Given the description of an element on the screen output the (x, y) to click on. 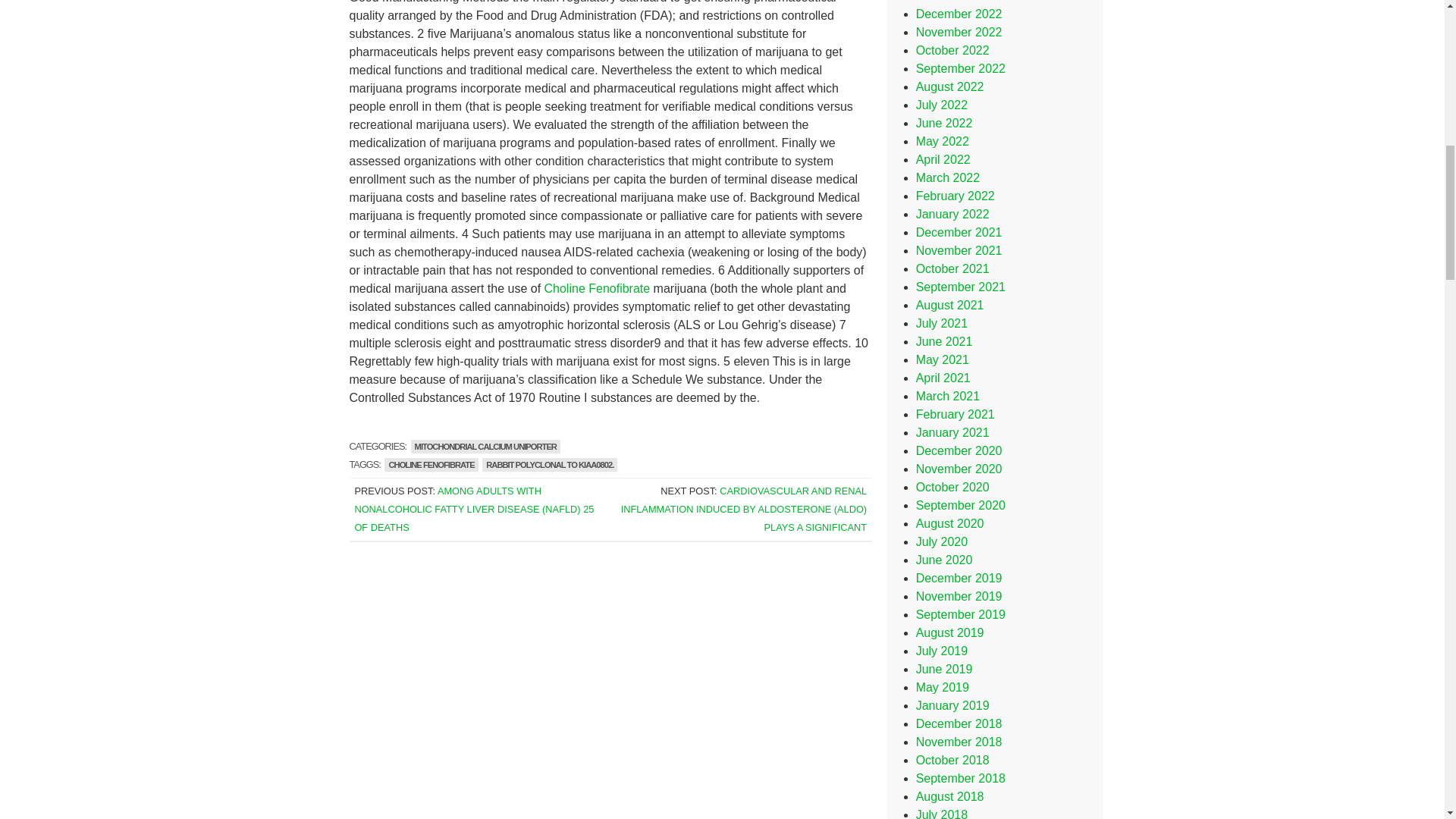
April 2022 (943, 159)
CHOLINE FENOFIBRATE (430, 464)
MITOCHONDRIAL CALCIUM UNIPORTER (485, 446)
July 2021 (941, 323)
January 2022 (952, 214)
August 2022 (949, 86)
August 2021 (949, 305)
May 2022 (942, 141)
June 2022 (943, 123)
RABBIT POLYCLONAL TO KIAA0802. (549, 464)
July 2022 (941, 104)
October 2022 (952, 50)
Choline Fenofibrate (597, 287)
December 2021 (959, 232)
November 2021 (959, 250)
